Given the description of an element on the screen output the (x, y) to click on. 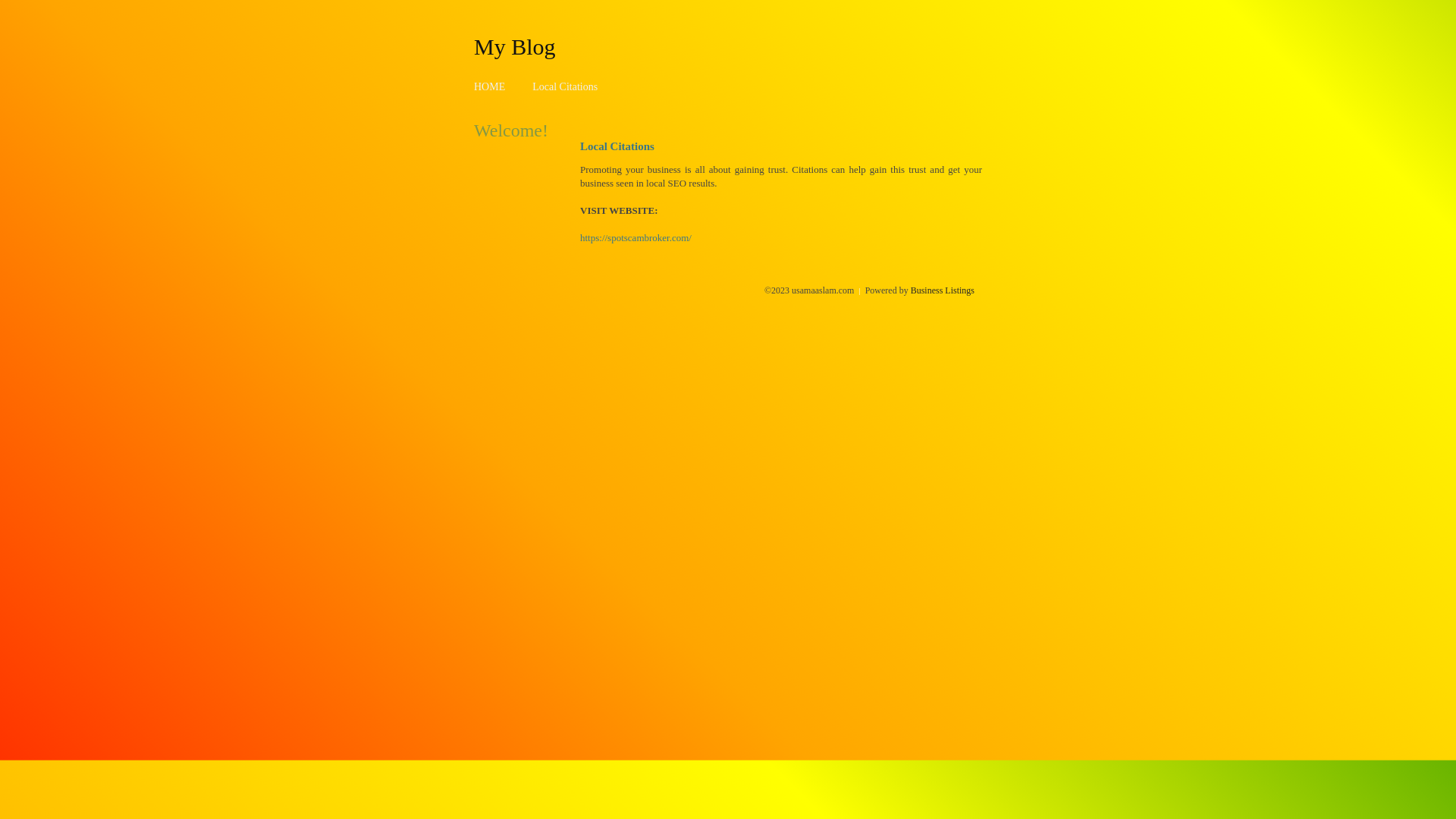
My Blog Element type: text (514, 46)
Business Listings Element type: text (942, 290)
Local Citations Element type: text (564, 86)
https://spotscambroker.com/ Element type: text (635, 237)
HOME Element type: text (489, 86)
